Given the description of an element on the screen output the (x, y) to click on. 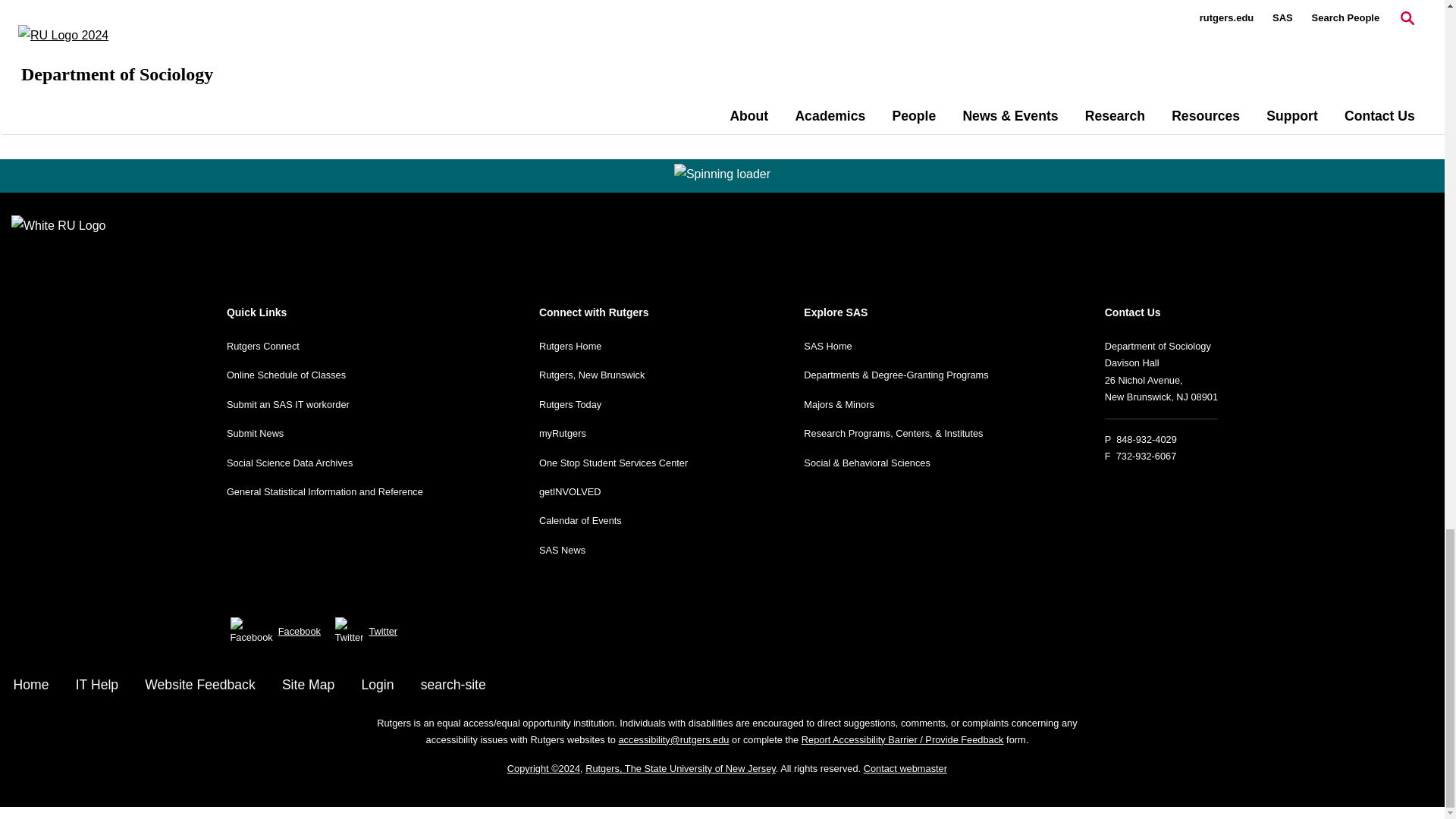
 Sociology Internship (468, 23)
